Given the description of an element on the screen output the (x, y) to click on. 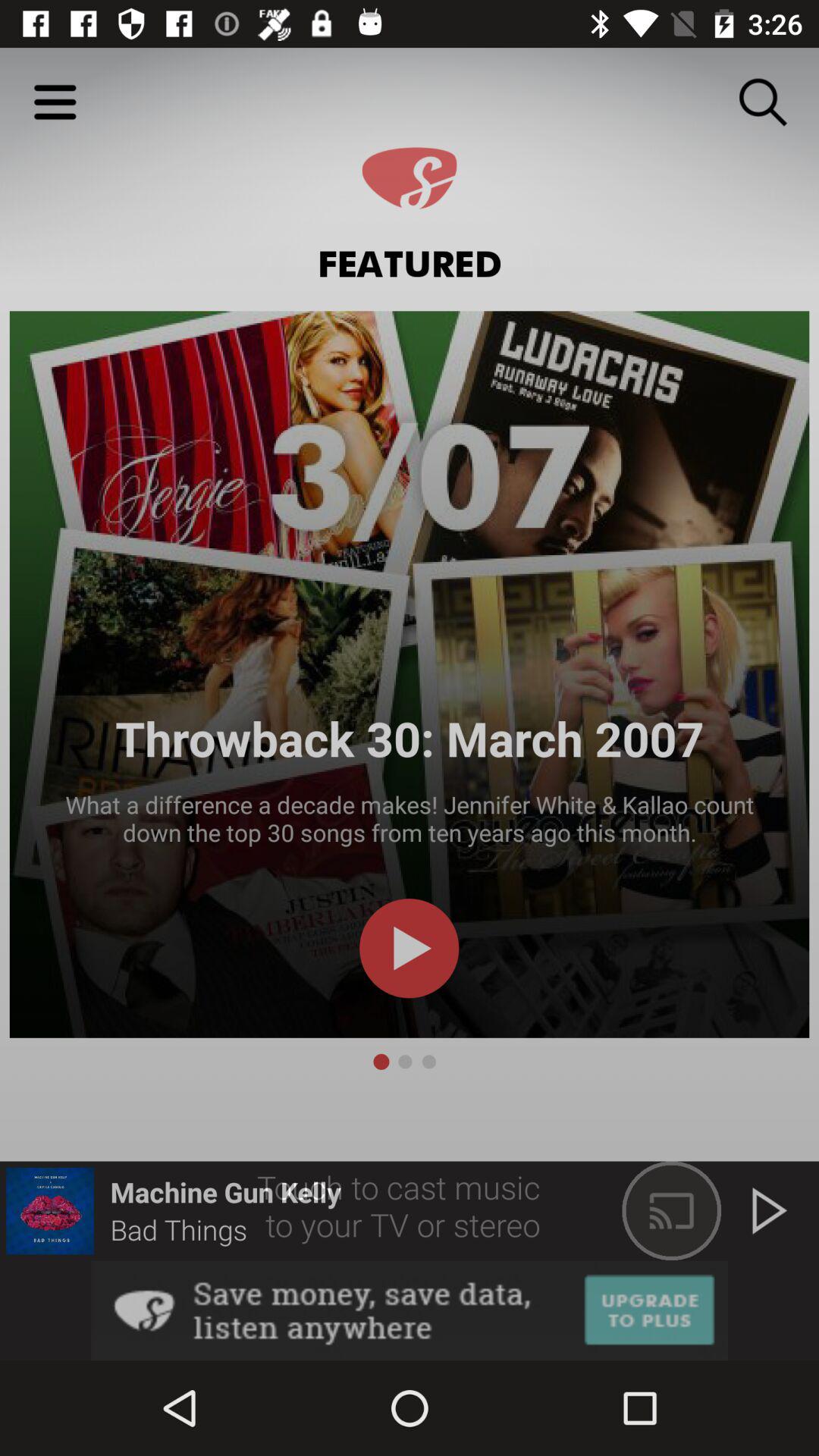
open advertisement (409, 1310)
